Given the description of an element on the screen output the (x, y) to click on. 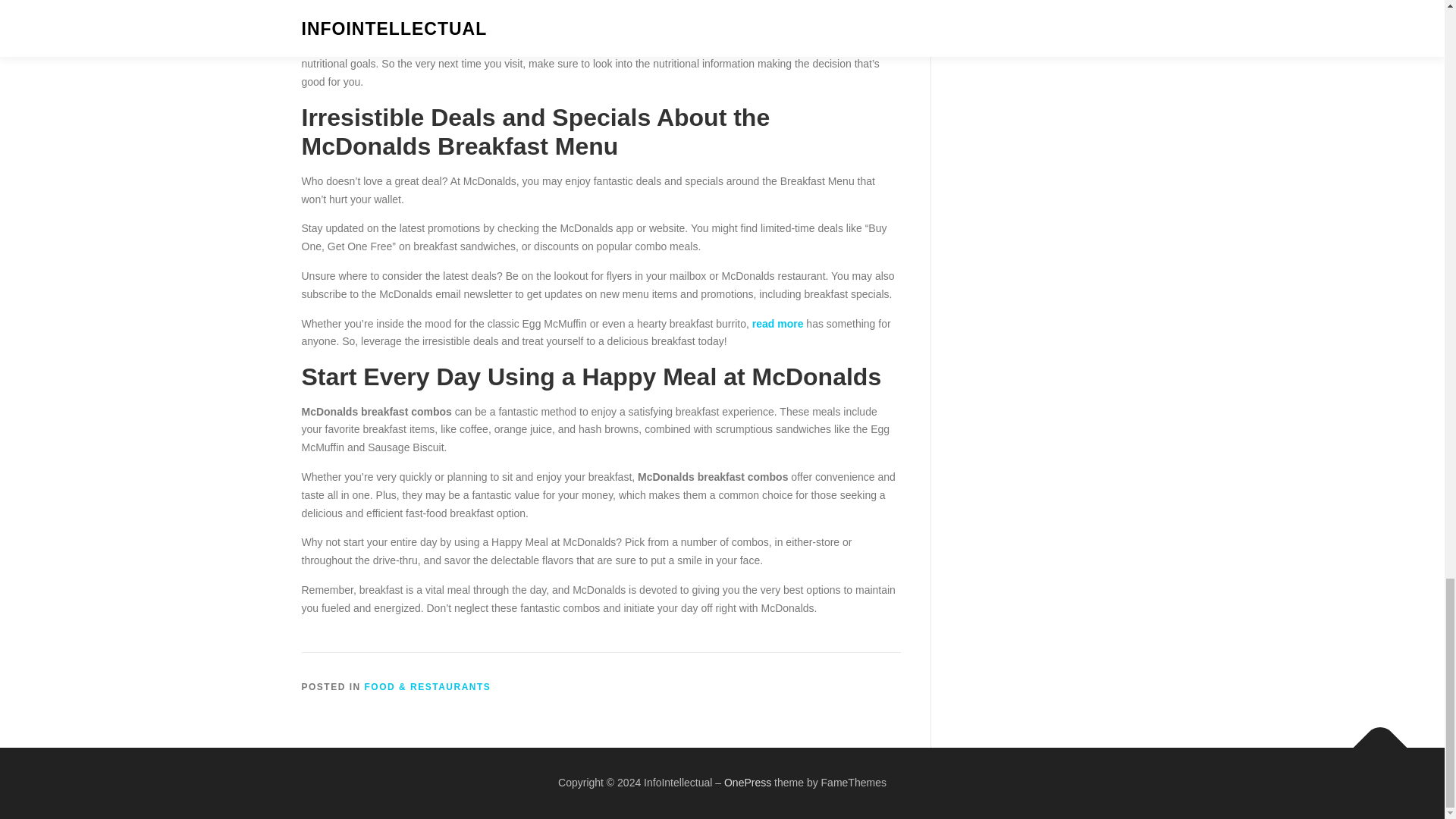
read more (777, 323)
Back To Top (1372, 740)
